Given the description of an element on the screen output the (x, y) to click on. 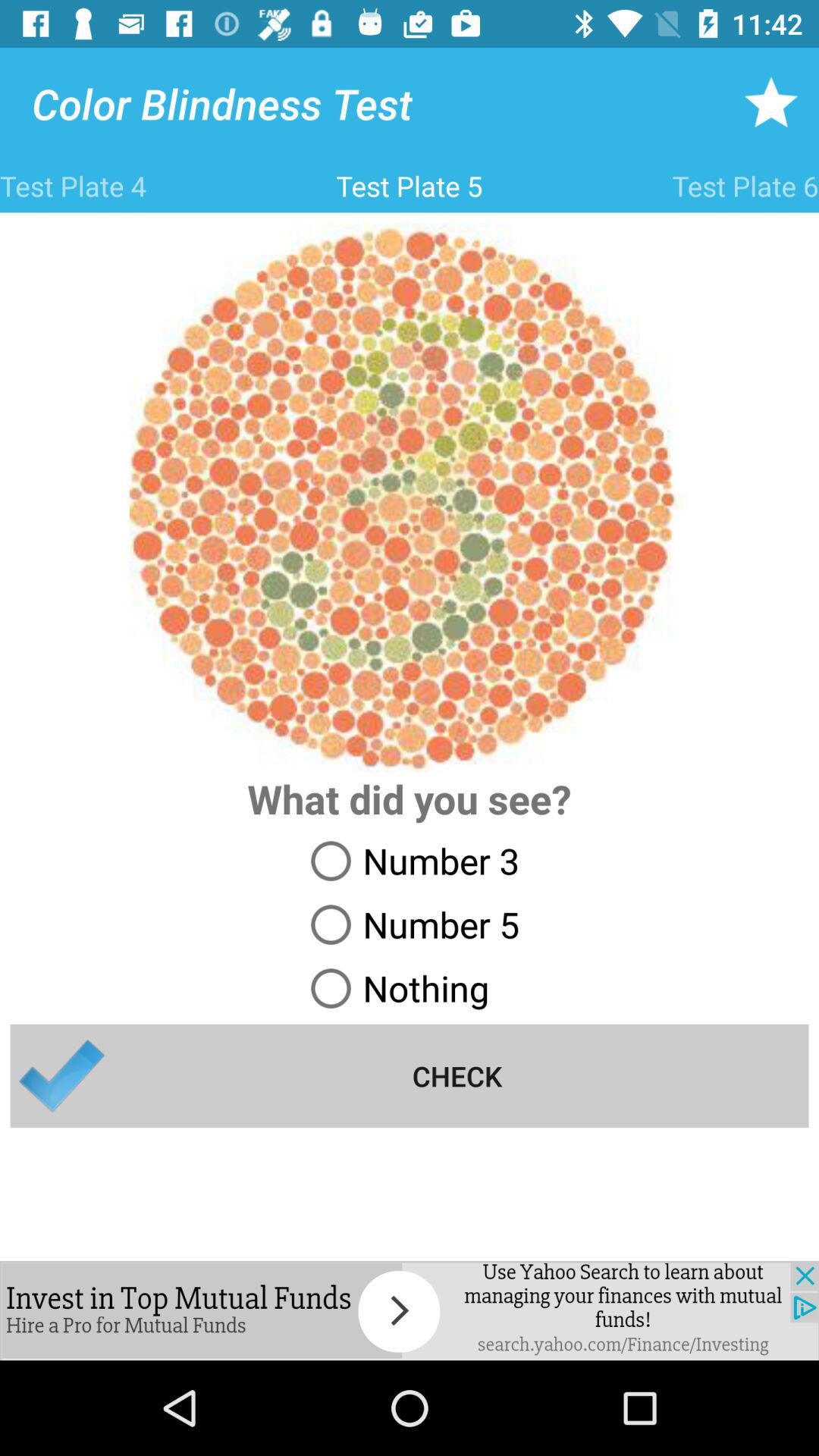
colur figure reconer (409, 1310)
